Given the description of an element on the screen output the (x, y) to click on. 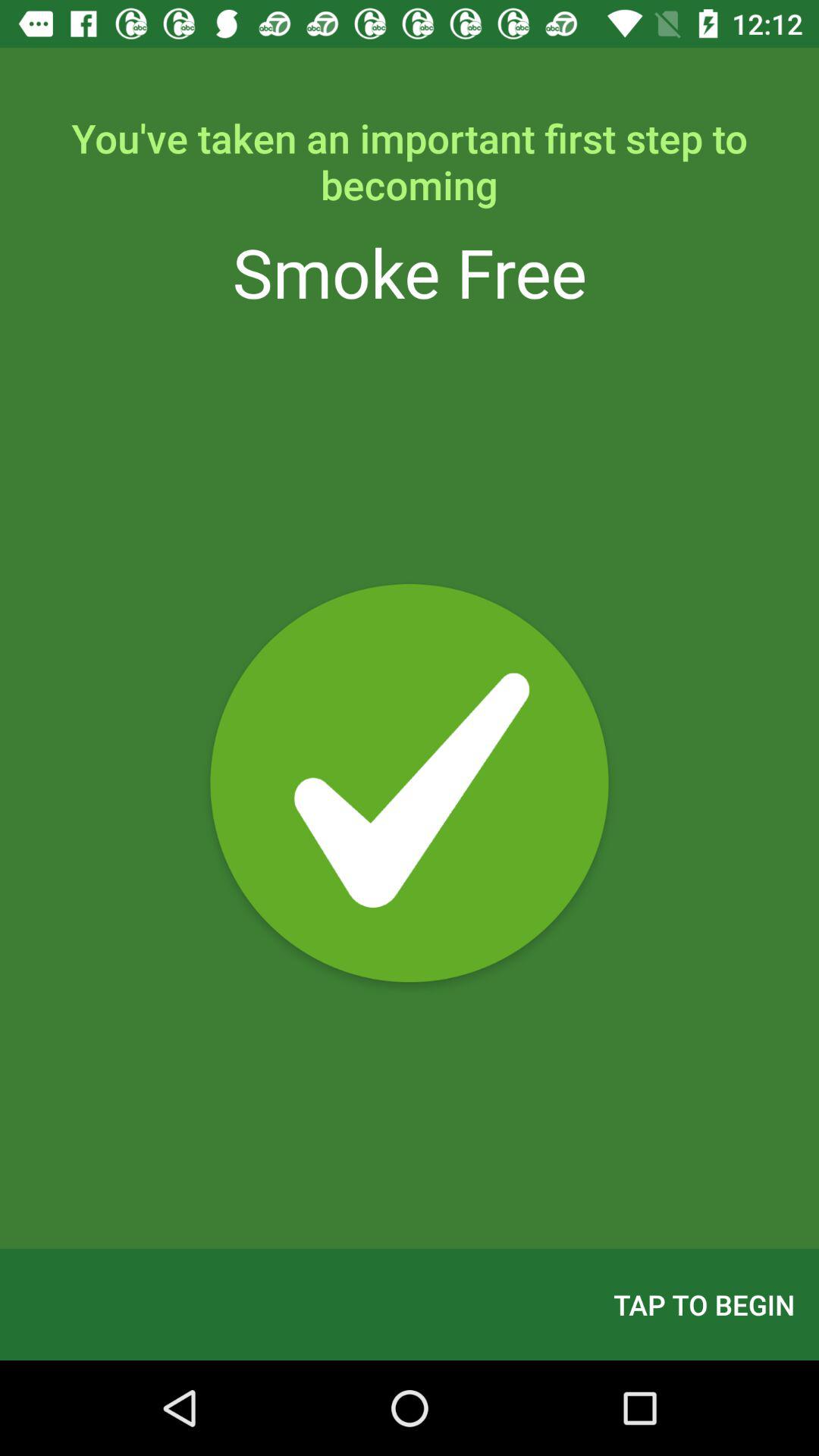
turn off the item at the bottom right corner (704, 1304)
